Given the description of an element on the screen output the (x, y) to click on. 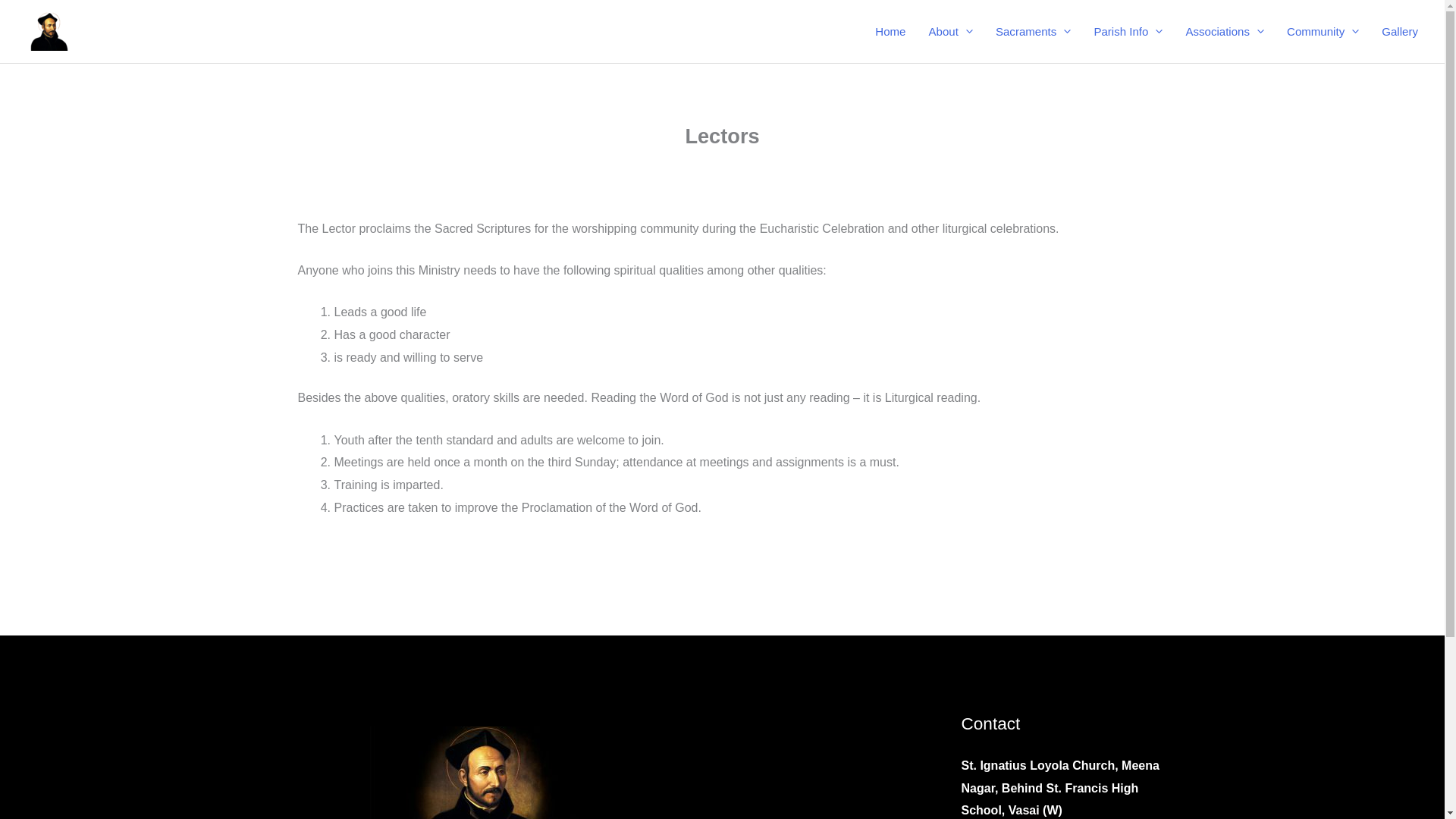
About (950, 30)
Associations (1224, 30)
Community (1322, 30)
Sacraments (1032, 30)
Home (890, 30)
Parish Info (1127, 30)
